Given the description of an element on the screen output the (x, y) to click on. 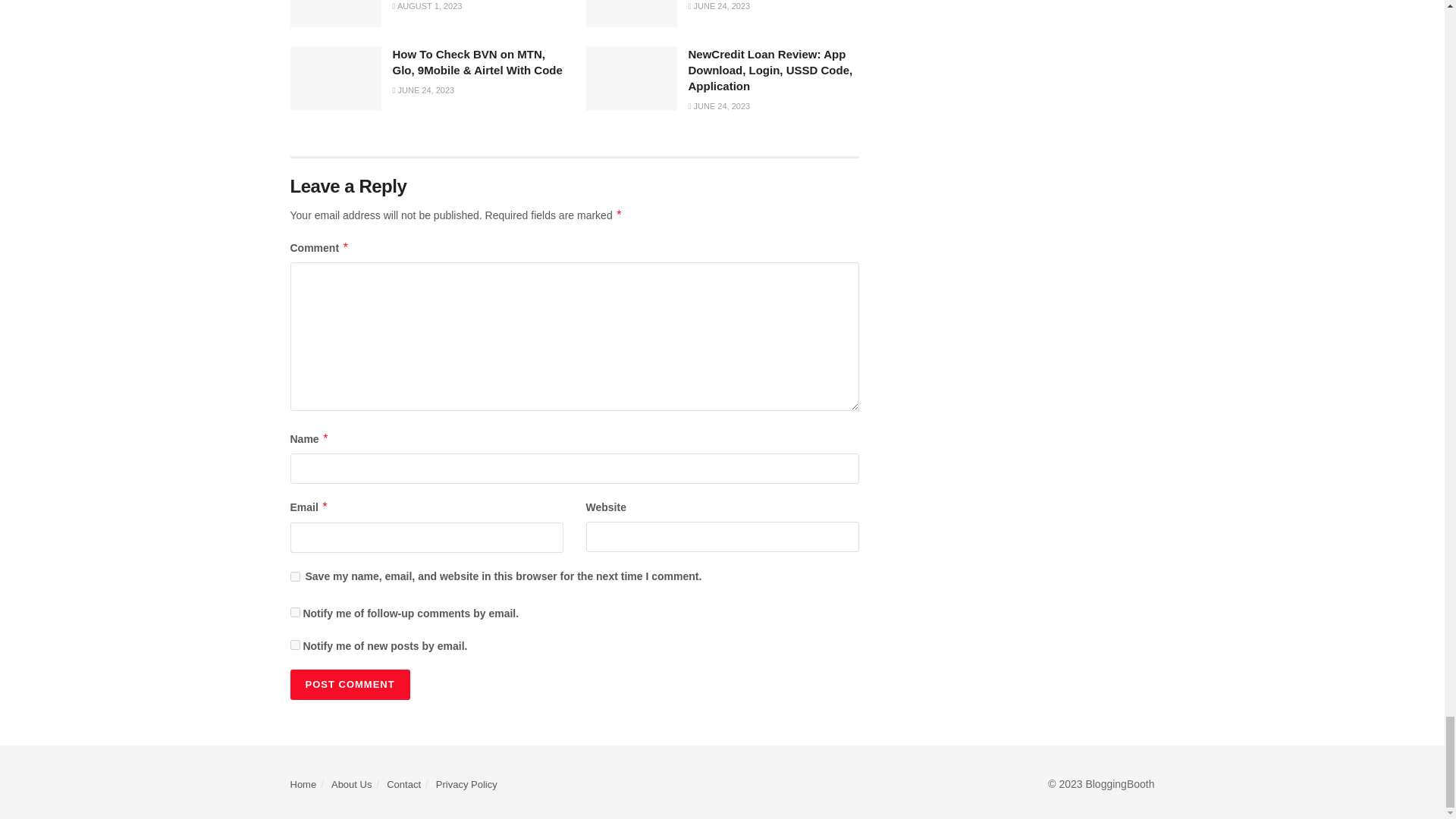
yes (294, 576)
subscribe (294, 644)
subscribe (294, 612)
Post Comment (349, 684)
